Given the description of an element on the screen output the (x, y) to click on. 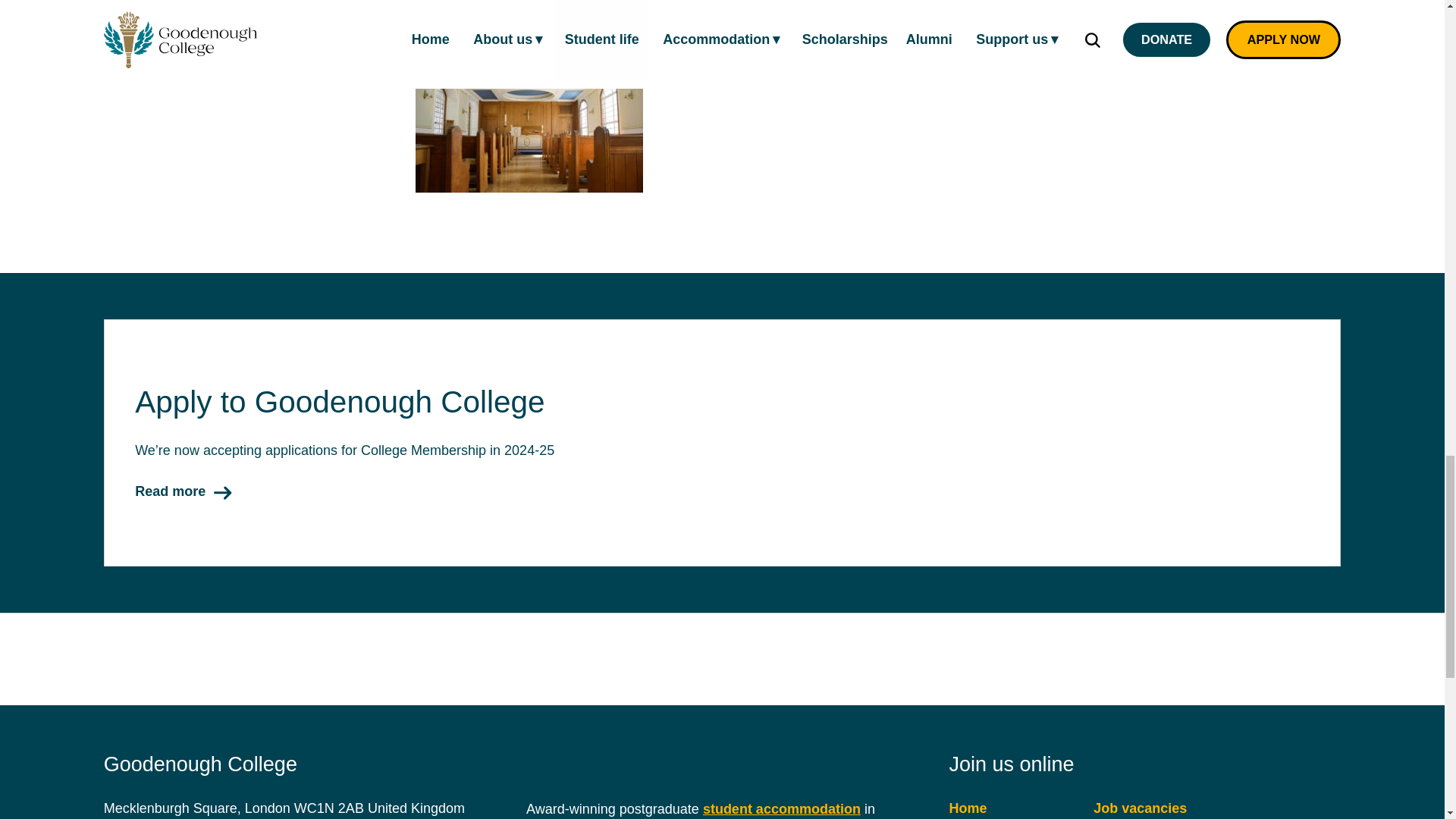
VisualV1 - ArrowCreated with Sketch. (222, 493)
